Given the description of an element on the screen output the (x, y) to click on. 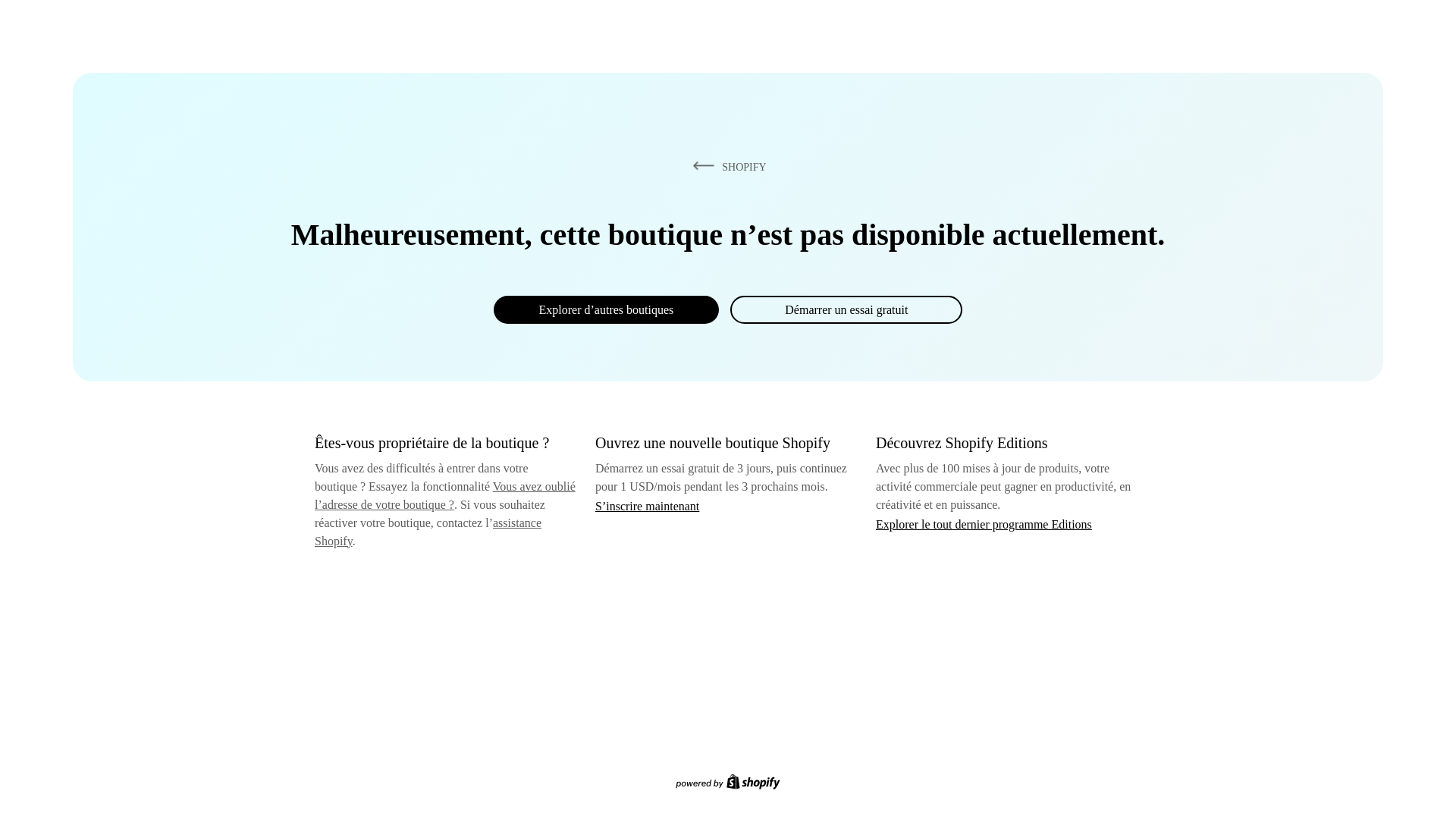
SHOPIFY (726, 166)
Explorer le tout dernier programme Editions (984, 523)
assistance Shopify (427, 531)
